Given the description of an element on the screen output the (x, y) to click on. 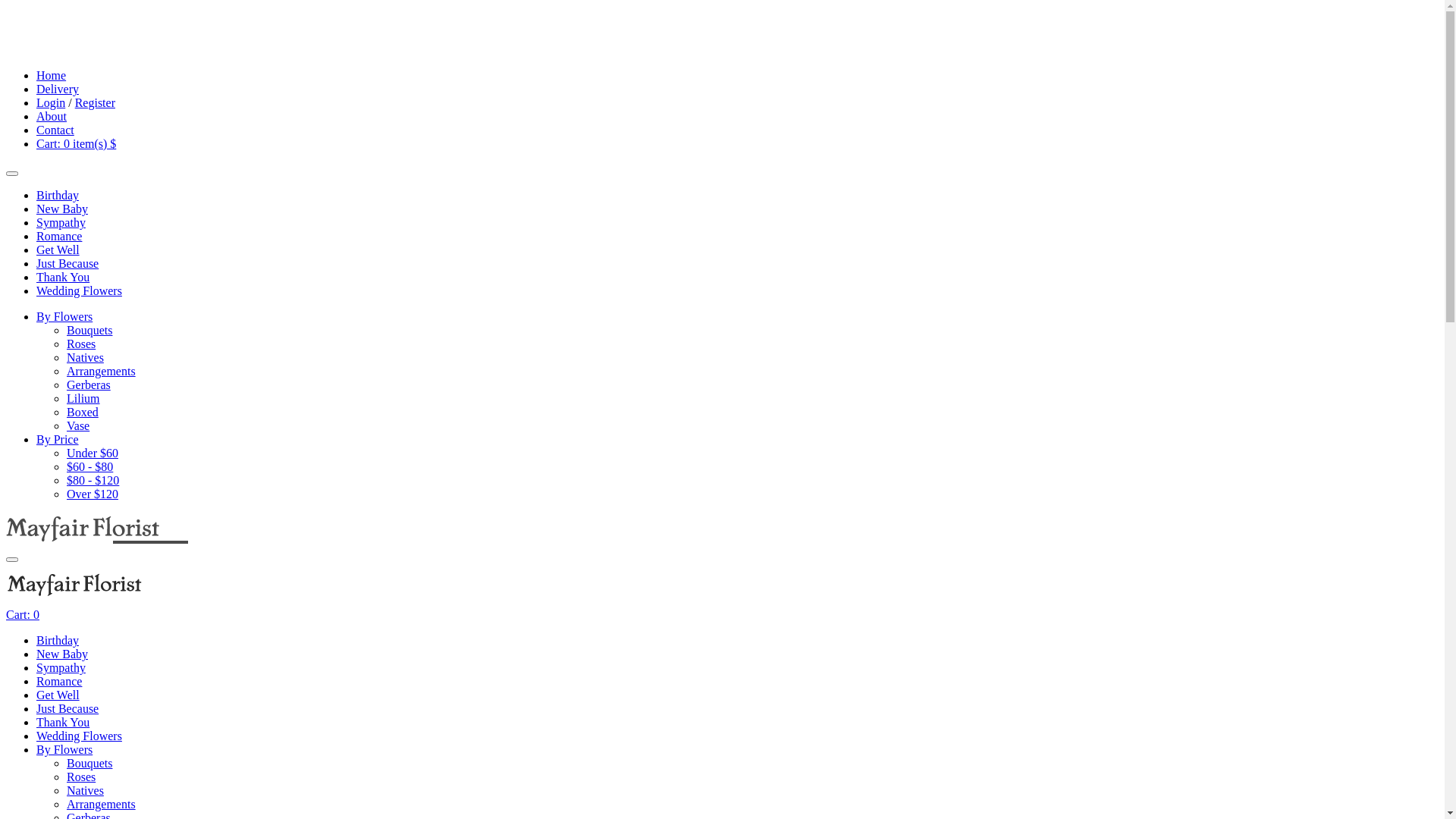
Roses Element type: text (80, 776)
Mayfair Florist Element type: hover (97, 541)
Over $120 Element type: text (92, 493)
Romance Element type: text (58, 680)
Gerberas Element type: text (88, 384)
Just Because Element type: text (67, 263)
Cart: 0 item(s) $ Element type: text (76, 143)
Romance Element type: text (58, 235)
$60 - $80 Element type: text (89, 466)
Cart: 0 Element type: text (22, 614)
Arrangements Element type: text (100, 803)
Birthday Element type: text (57, 194)
Sympathy Element type: text (60, 667)
By Flowers Element type: text (64, 316)
Register Element type: text (95, 102)
New Baby Element type: text (61, 653)
By Flowers Element type: text (64, 749)
New Baby Element type: text (61, 208)
Wedding Flowers Element type: text (79, 290)
Arrangements Element type: text (100, 370)
Contact Element type: text (55, 129)
Roses Element type: text (80, 343)
Under $60 Element type: text (92, 452)
About Element type: text (51, 115)
Just Because Element type: text (67, 708)
Login Element type: text (50, 102)
Wedding Flowers Element type: text (79, 735)
$80 - $120 Element type: text (92, 479)
Birthday Element type: text (57, 639)
Bouquets Element type: text (89, 329)
Mayfair Florist Element type: hover (74, 600)
Delivery Element type: text (57, 88)
Get Well Element type: text (57, 694)
Boxed Element type: text (82, 411)
Mayfair Florist Element type: hover (114, 49)
By Price Element type: text (57, 439)
Natives Element type: text (84, 790)
Sympathy Element type: text (60, 222)
Bouquets Element type: text (89, 762)
Natives Element type: text (84, 357)
Lilium Element type: text (83, 398)
Thank You Element type: text (62, 276)
Vase Element type: text (77, 425)
Get Well Element type: text (57, 249)
Home Element type: text (50, 75)
Thank You Element type: text (62, 721)
